Given the description of an element on the screen output the (x, y) to click on. 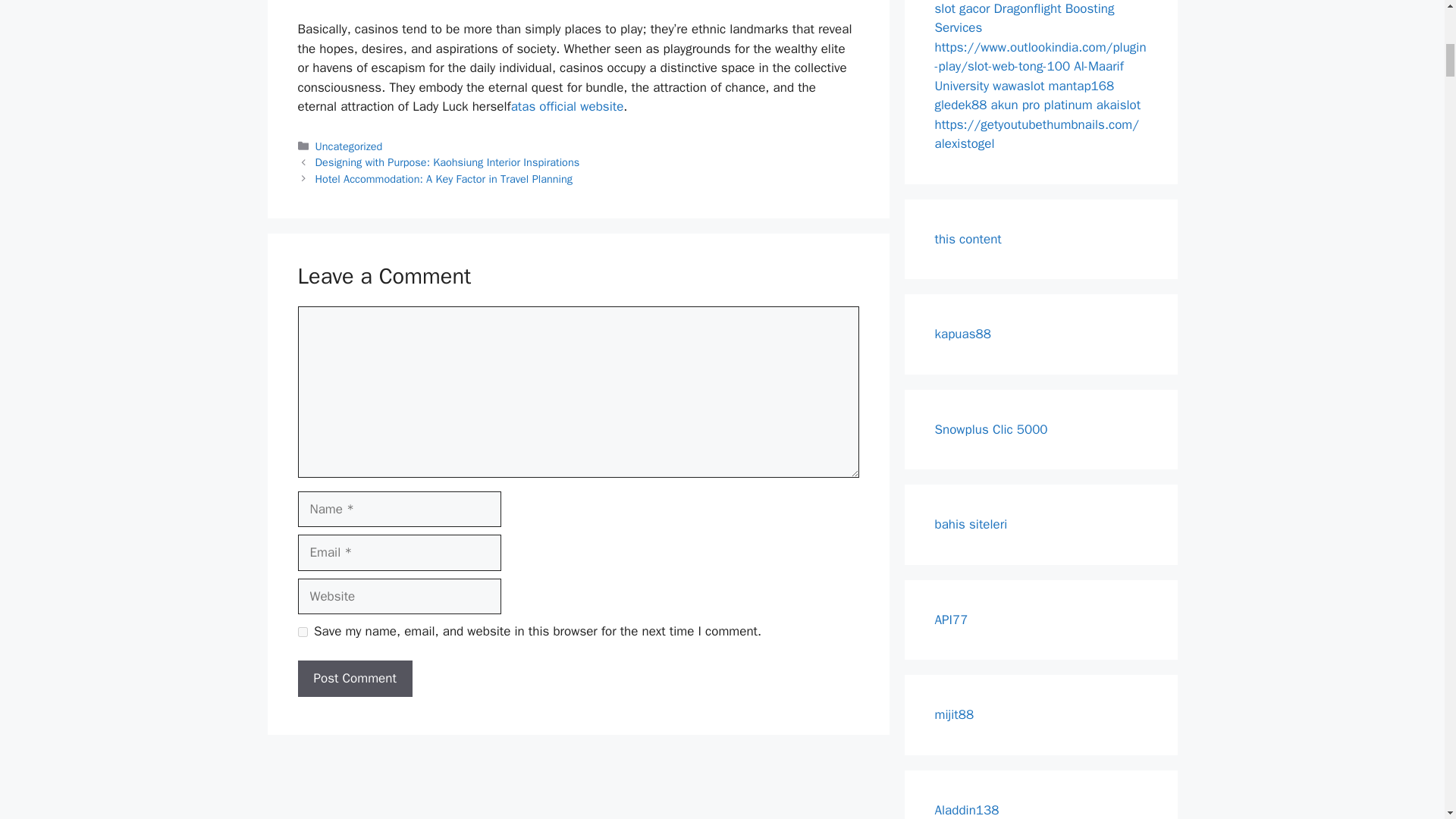
yes (302, 632)
atas official website (567, 106)
Post Comment (354, 678)
Uncategorized (348, 146)
Post Comment (354, 678)
Designing with Purpose: Kaohsiung Interior Inspirations (447, 161)
Hotel Accommodation: A Key Factor in Travel Planning (443, 178)
